Given the description of an element on the screen output the (x, y) to click on. 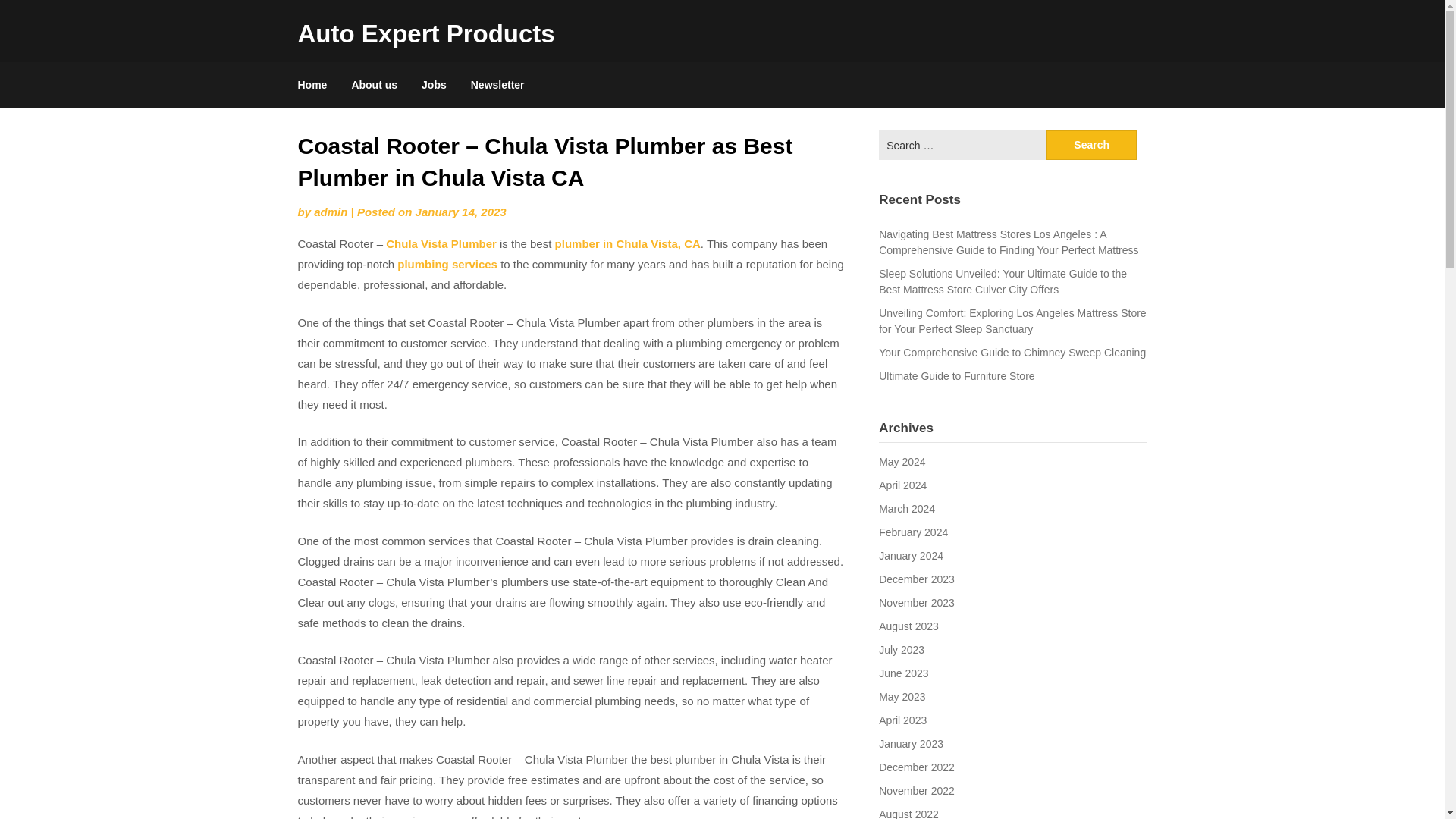
Newsletter (497, 84)
Home (318, 84)
November 2022 (917, 790)
March 2024 (906, 508)
January 14, 2023 (460, 211)
Search (1091, 144)
January 2024 (911, 555)
December 2022 (917, 767)
May 2023 (901, 696)
August 2022 (909, 813)
June 2023 (903, 673)
November 2023 (917, 603)
April 2023 (902, 720)
